Given the description of an element on the screen output the (x, y) to click on. 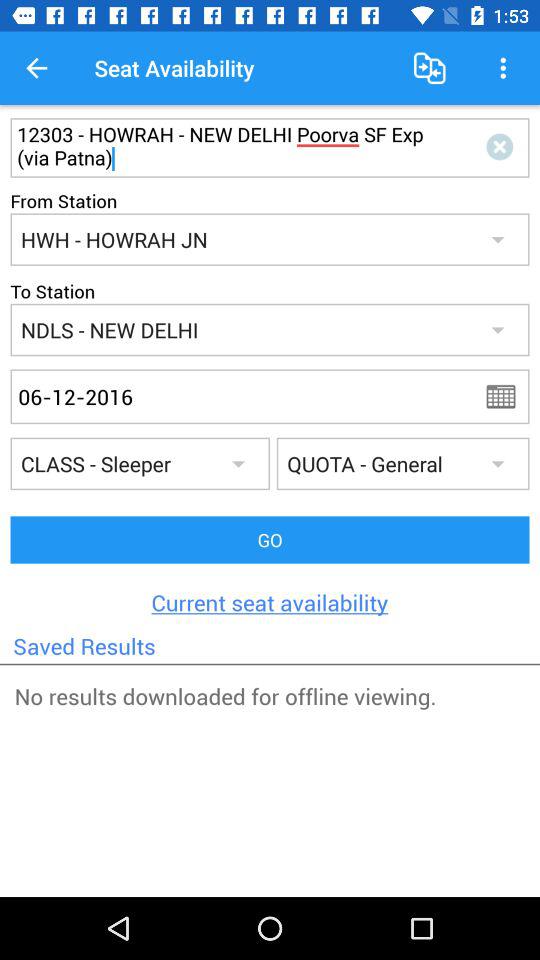
click the item next to the seat availability item (429, 67)
